Given the description of an element on the screen output the (x, y) to click on. 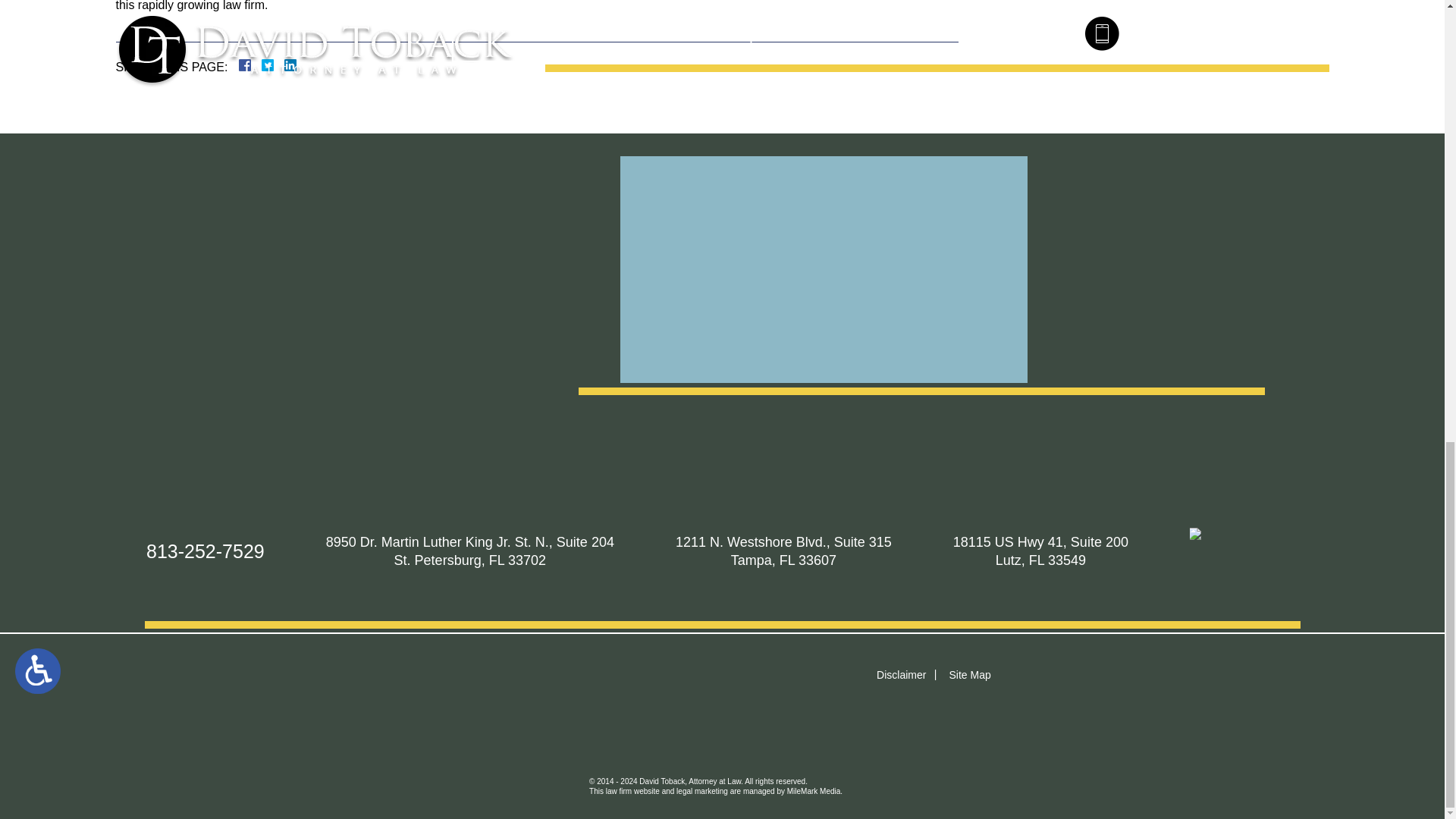
Twitter (273, 64)
Facebook (262, 64)
LinkedIn (284, 64)
